Given the description of an element on the screen output the (x, y) to click on. 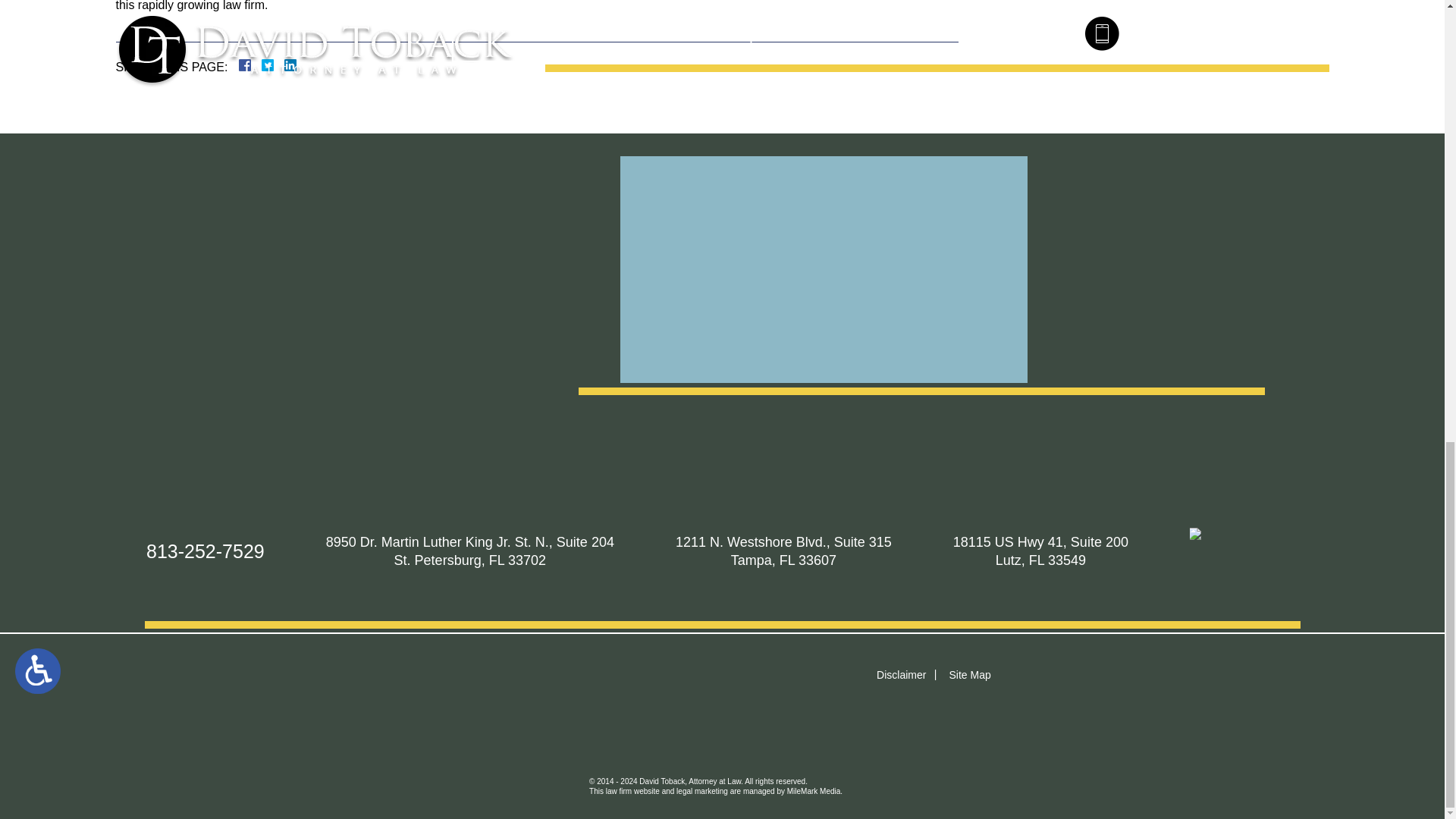
Twitter (273, 64)
Facebook (262, 64)
LinkedIn (284, 64)
